Given the description of an element on the screen output the (x, y) to click on. 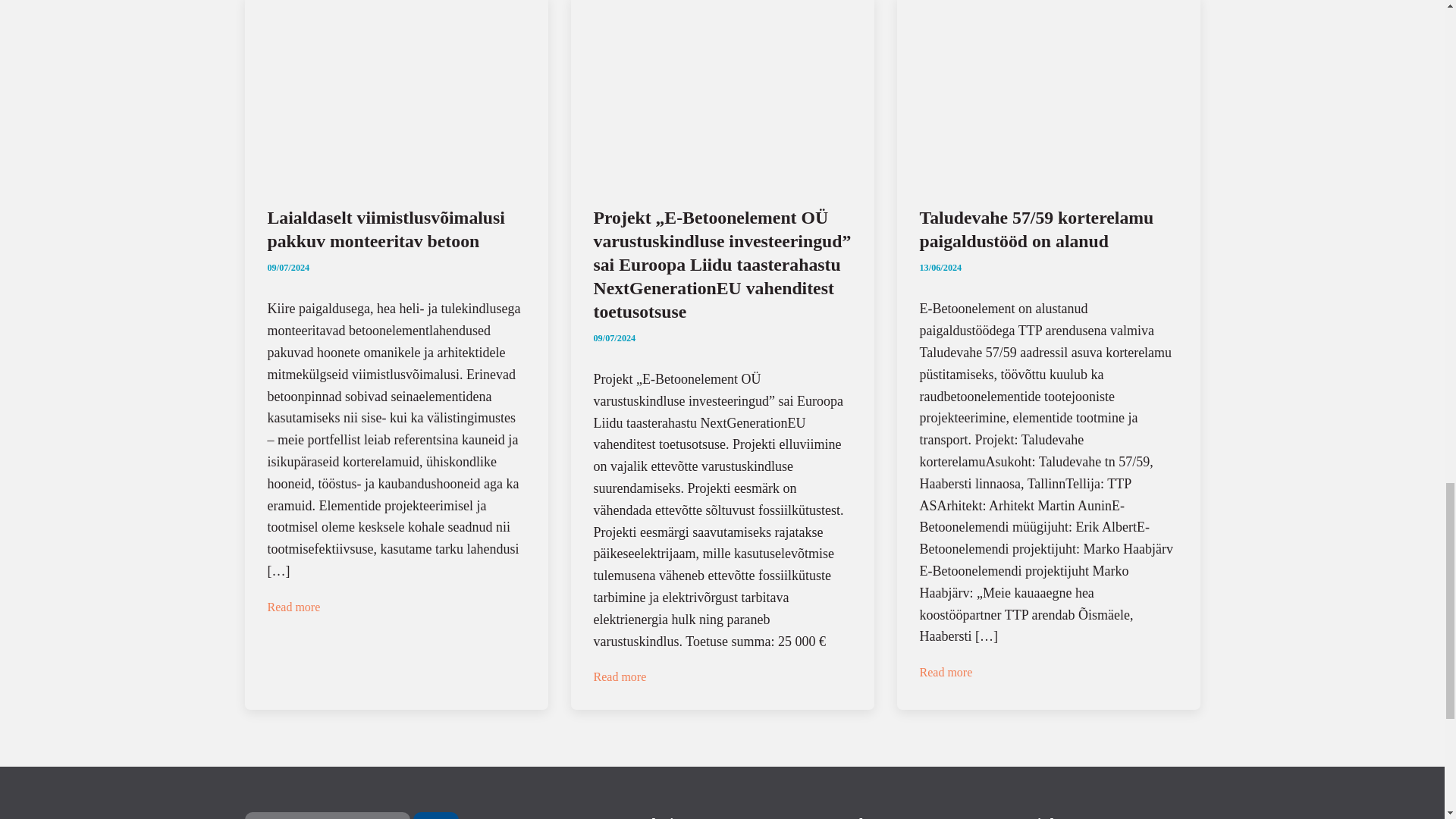
Otsi (435, 815)
